Given the description of an element on the screen output the (x, y) to click on. 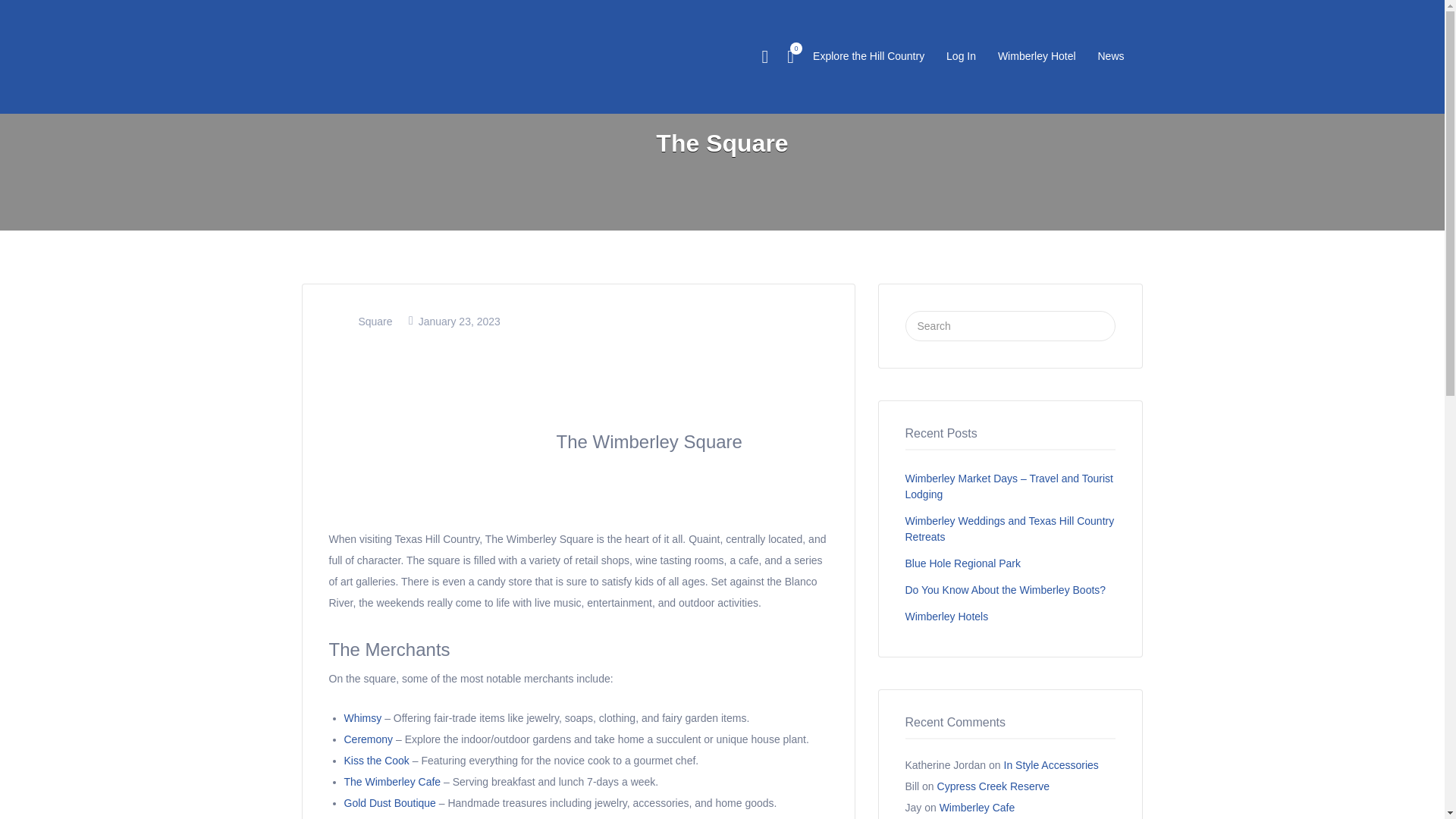
Gold Dust Boutique (389, 802)
Wimberley Hotel (1036, 56)
Candy Cottage (378, 818)
Blue Hole Regional Park (963, 563)
Wimberley Cafe (976, 807)
Square (374, 321)
Ceremony (368, 739)
Log In (960, 56)
Explore the Hill Country (868, 56)
Cypress Creek Reserve (993, 786)
Kiss the Cook (376, 760)
The Wimberley Cafe (392, 781)
Wimberley Weddings and Texas Hill Country Retreats (1010, 528)
Whimsy (362, 717)
Search for: (1010, 326)
